Given the description of an element on the screen output the (x, y) to click on. 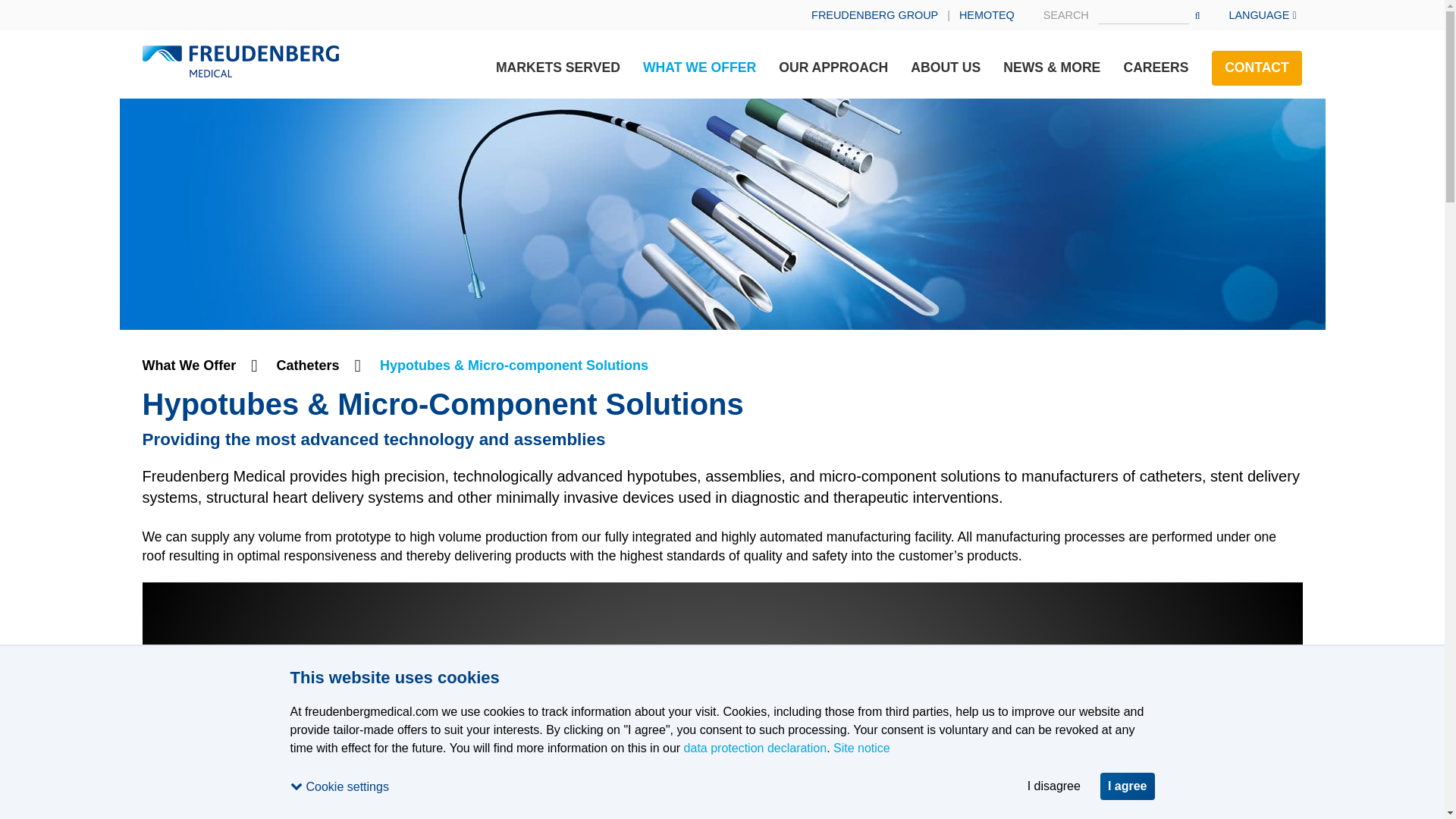
I agree (1127, 786)
Cookie settings (343, 786)
data protection declaration (755, 748)
Site notice (860, 748)
I disagree (1053, 786)
